Given the description of an element on the screen output the (x, y) to click on. 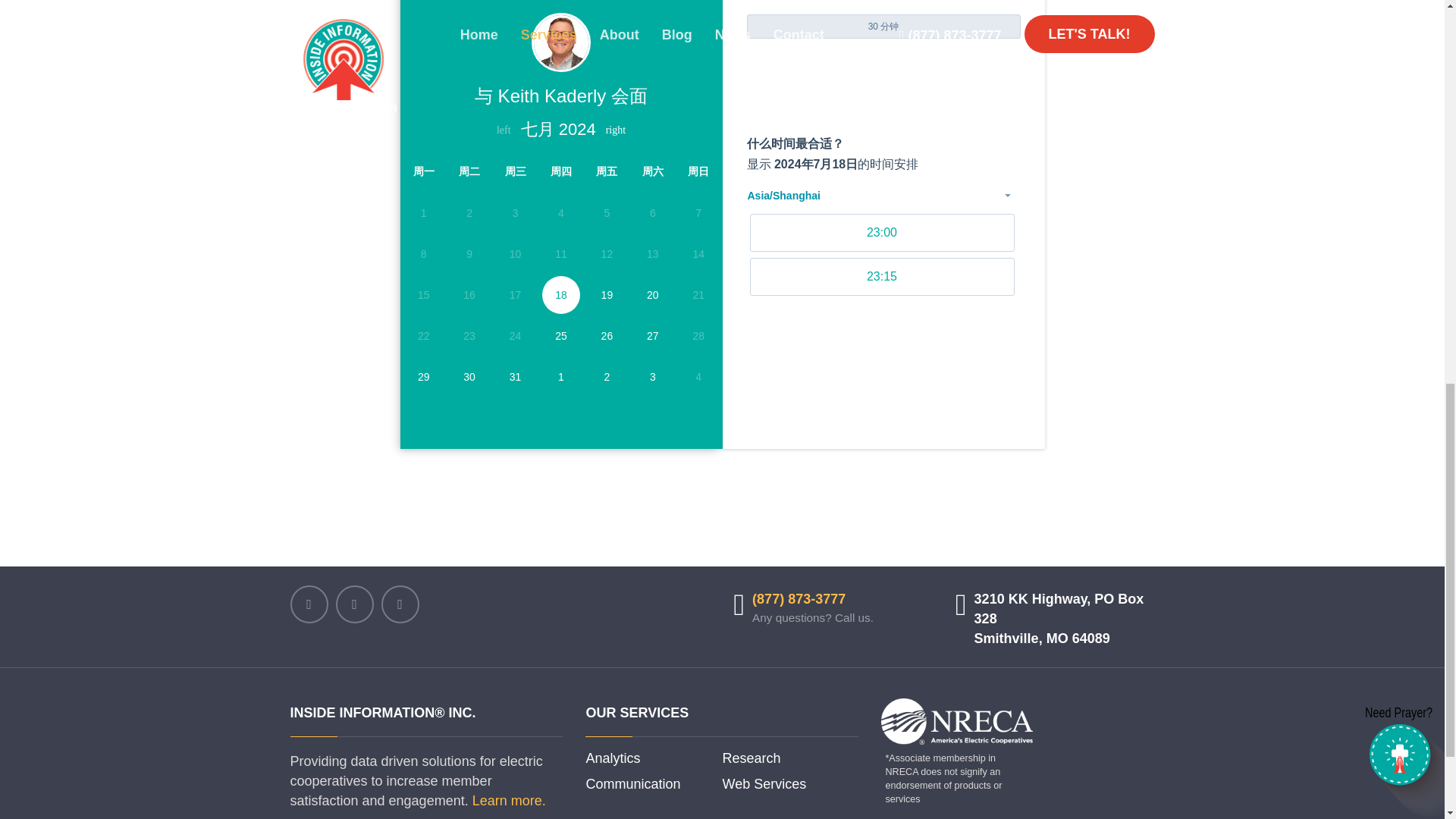
Communication (632, 784)
linkedin (353, 604)
facebook (308, 604)
youtube (399, 604)
Analytics (612, 759)
Learn more. (508, 800)
Web Services (764, 784)
Research (751, 759)
